Given the description of an element on the screen output the (x, y) to click on. 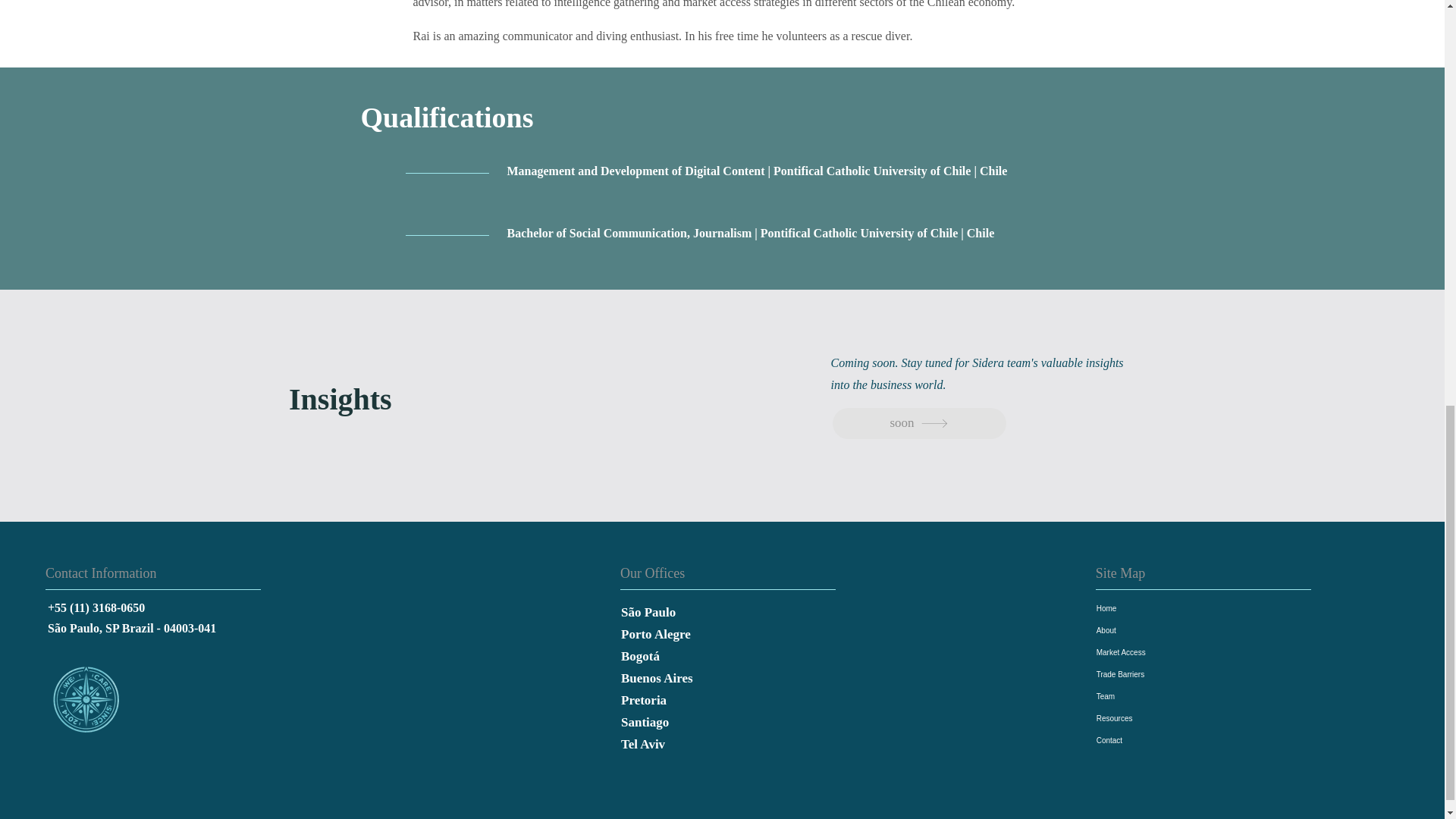
Santiago (704, 722)
Site Map (1147, 574)
Tel Aviv (704, 744)
Market Access (1171, 652)
Home (1171, 608)
Buenos Aires (704, 678)
Team (1171, 696)
Contact Information (120, 574)
Pretoria (704, 700)
Our Offices (671, 574)
soon (919, 422)
Trade Barriers (1171, 674)
Porto Alegre (704, 634)
About (1171, 630)
